Given the description of an element on the screen output the (x, y) to click on. 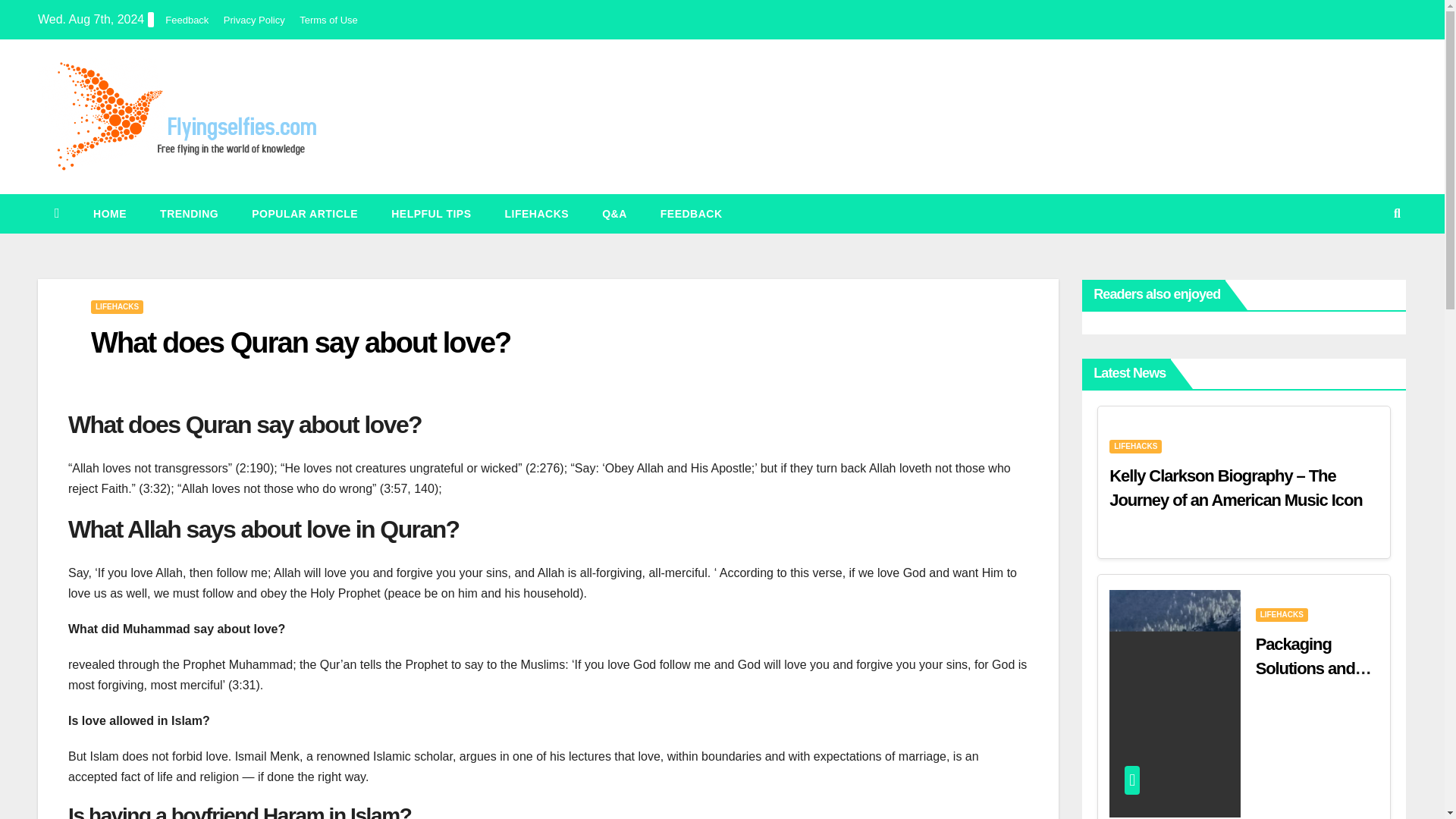
What does Quran say about love? (300, 342)
Trending (188, 213)
POPULAR ARTICLE (304, 213)
LIFEHACKS (116, 306)
Terms of Use (328, 19)
Home (109, 213)
Helpful tips (430, 213)
Feedback (186, 19)
Privacy Policy (254, 19)
LIFEHACKS (536, 213)
